Given the description of an element on the screen output the (x, y) to click on. 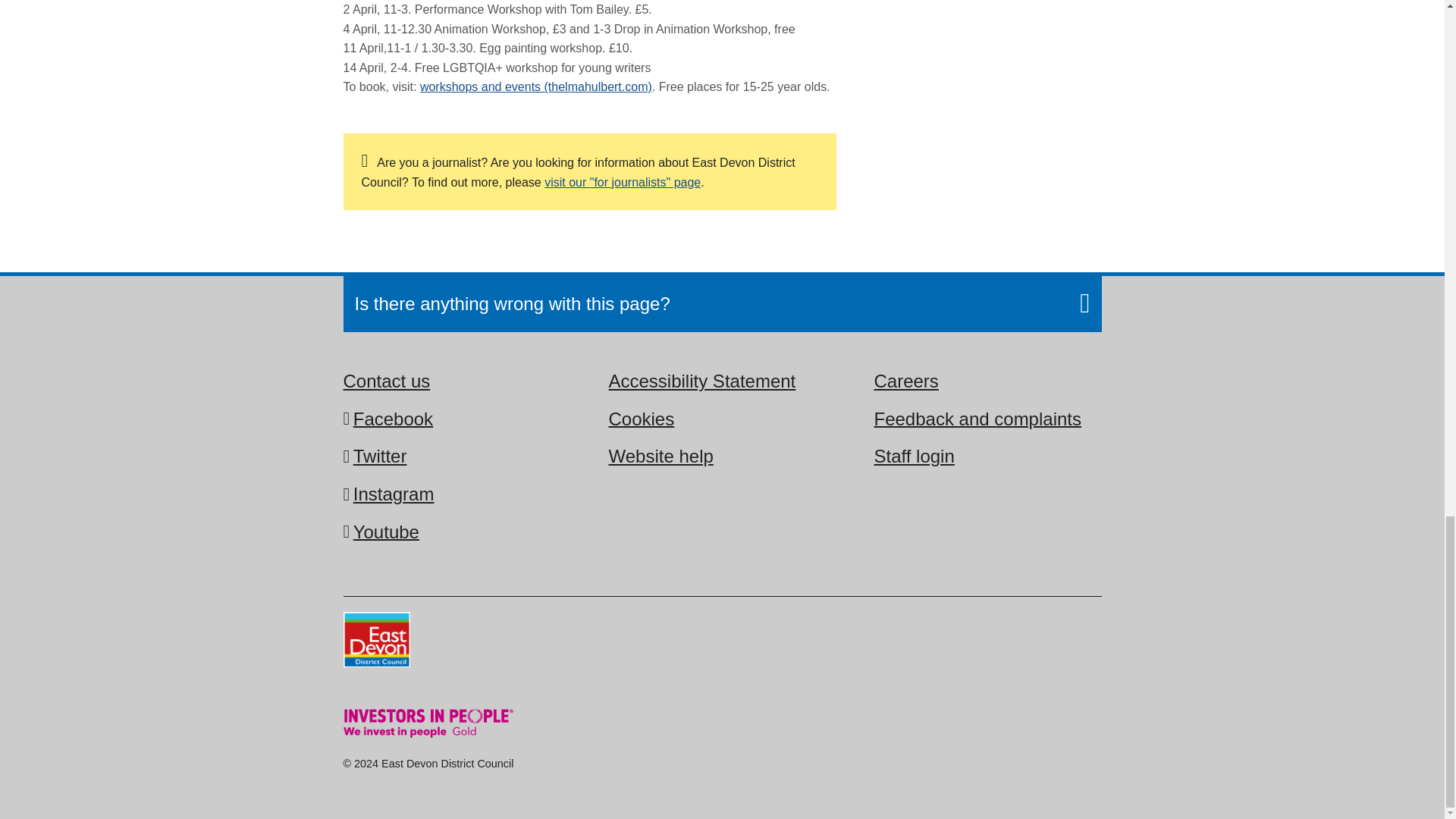
Twitter (380, 455)
Go to the East Devon District Council homepage (375, 642)
Youtube (386, 531)
Instagram (393, 493)
Accessibility Statement (701, 380)
Contact us (385, 380)
Is there anything wrong with this page? (722, 304)
Staff login (913, 455)
visit our "for journalists" page (622, 182)
Careers (905, 380)
